Given the description of an element on the screen output the (x, y) to click on. 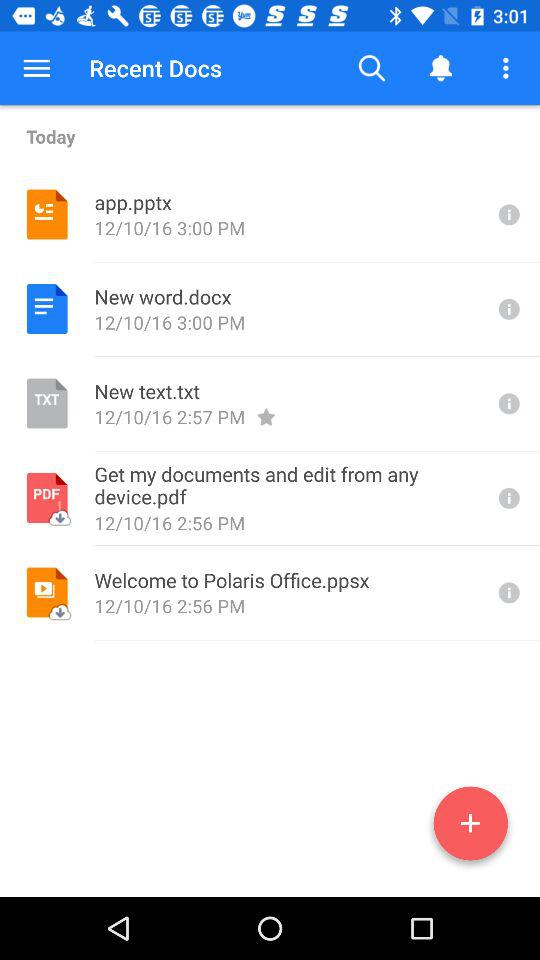
choose the item at the bottom right corner (470, 827)
